Given the description of an element on the screen output the (x, y) to click on. 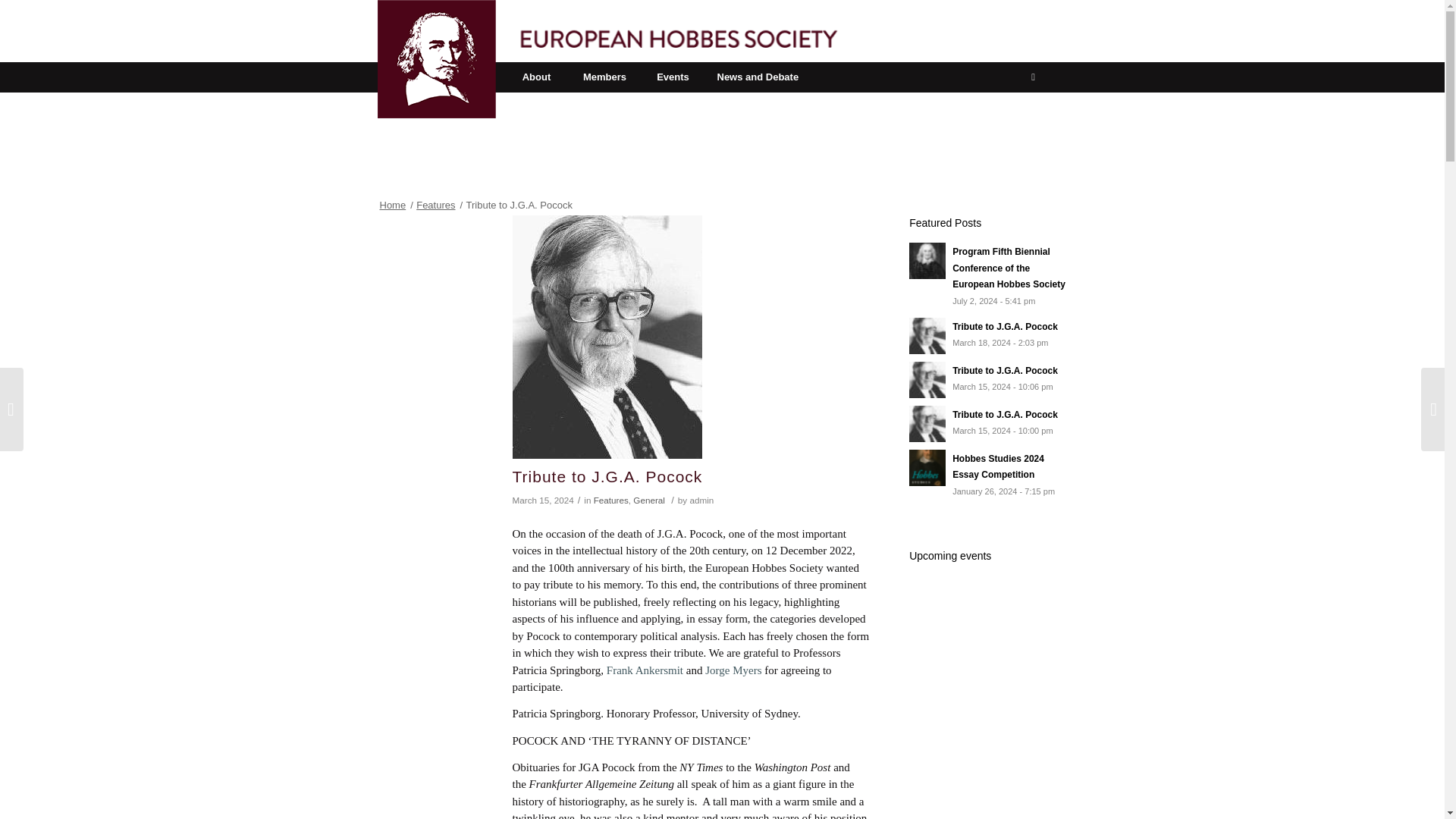
Events (672, 77)
Posts by admin (987, 335)
Home (700, 500)
admin (987, 423)
Hobbes Studies              2024 Essay Competition (393, 204)
Members (700, 500)
Features (987, 474)
